Given the description of an element on the screen output the (x, y) to click on. 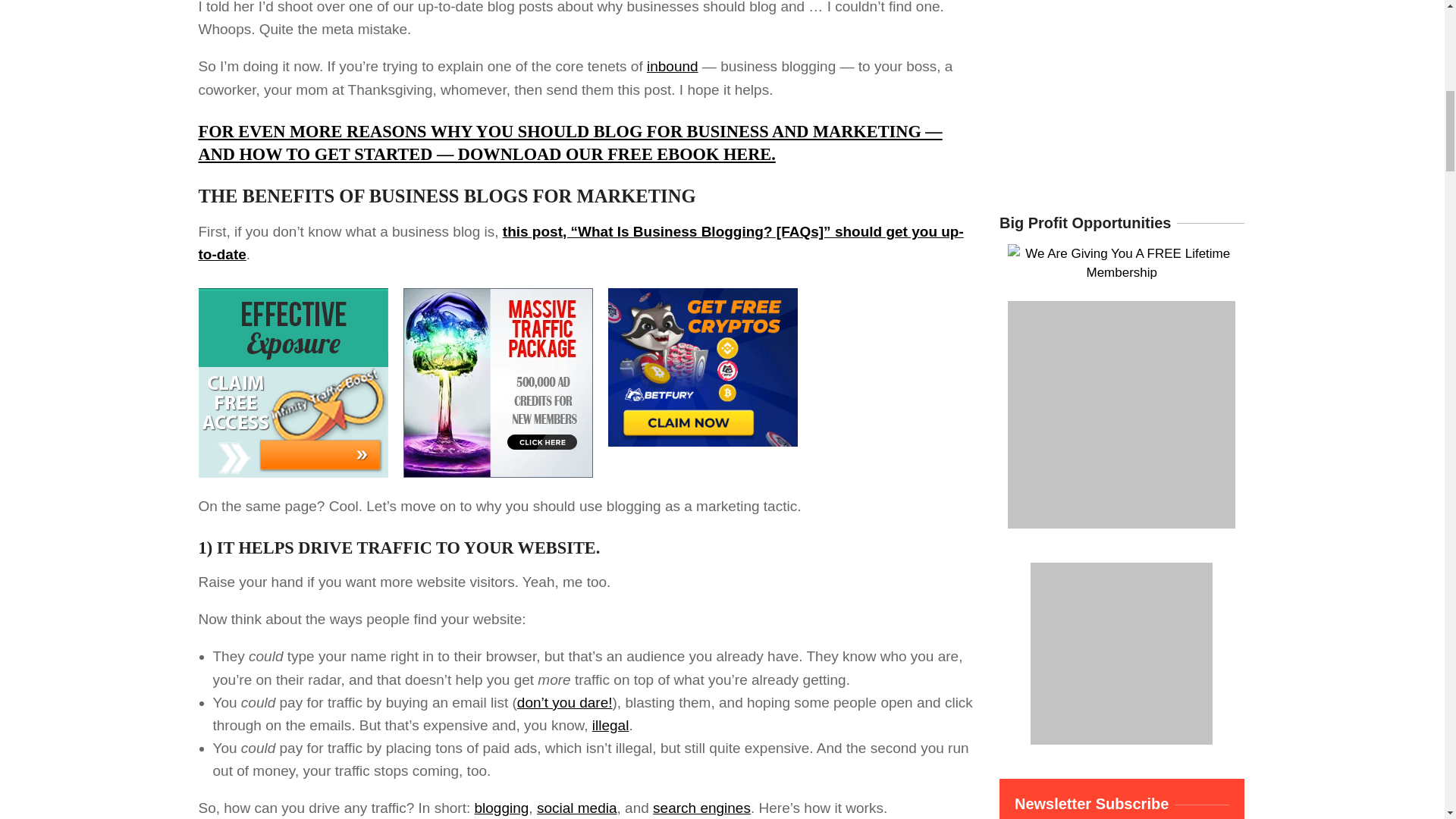
We Are Giving You A FREE Lifetime Membership (1120, 253)
